Given the description of an element on the screen output the (x, y) to click on. 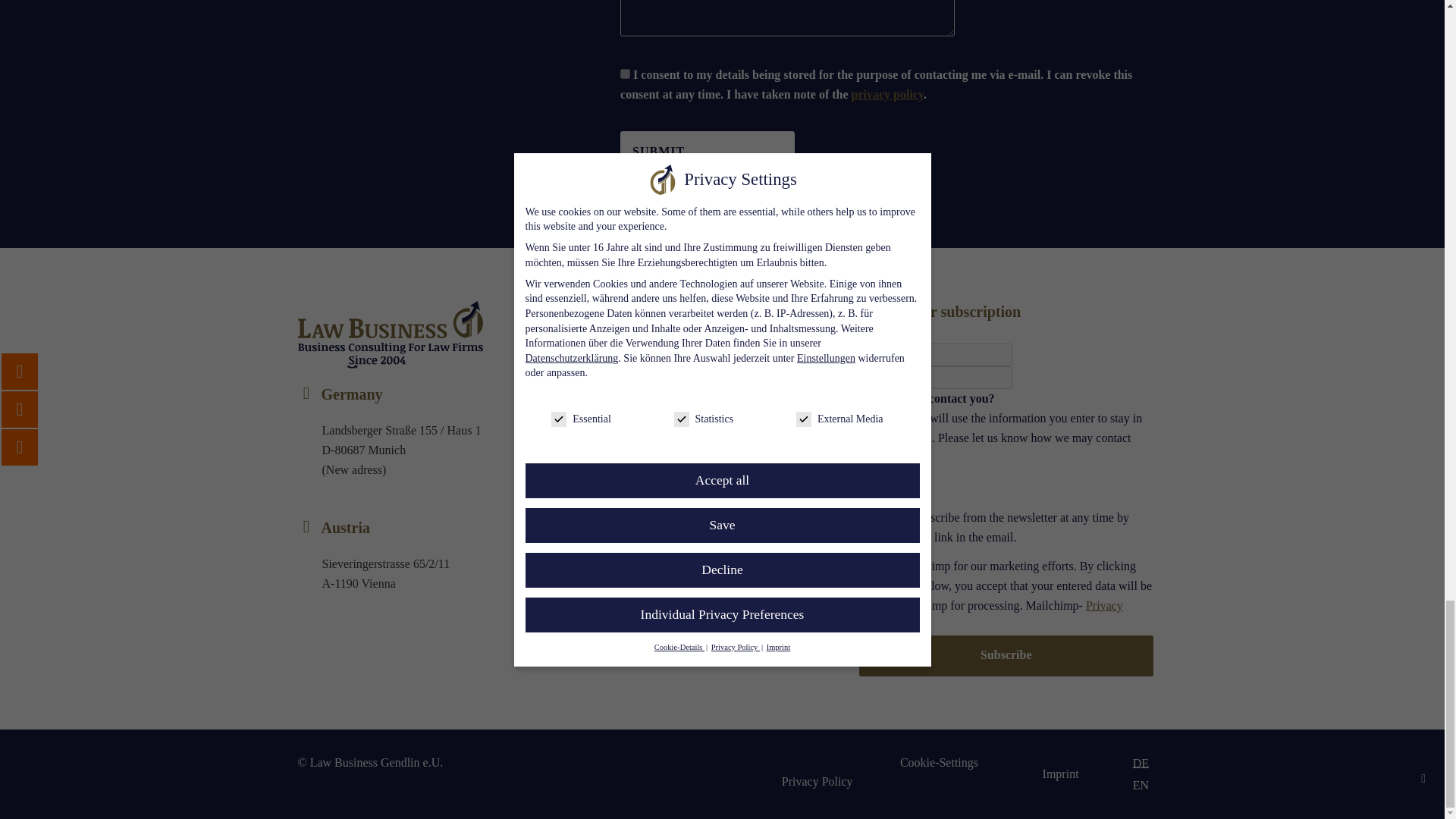
1 (625, 73)
Privacy Policy (817, 780)
Privacy Policy (990, 614)
Cookie-Settings (938, 762)
Y (864, 488)
privacy policy (887, 93)
Subscribe (1006, 654)
Submit (707, 151)
Submit (707, 151)
Subscribe (1006, 654)
